Given the description of an element on the screen output the (x, y) to click on. 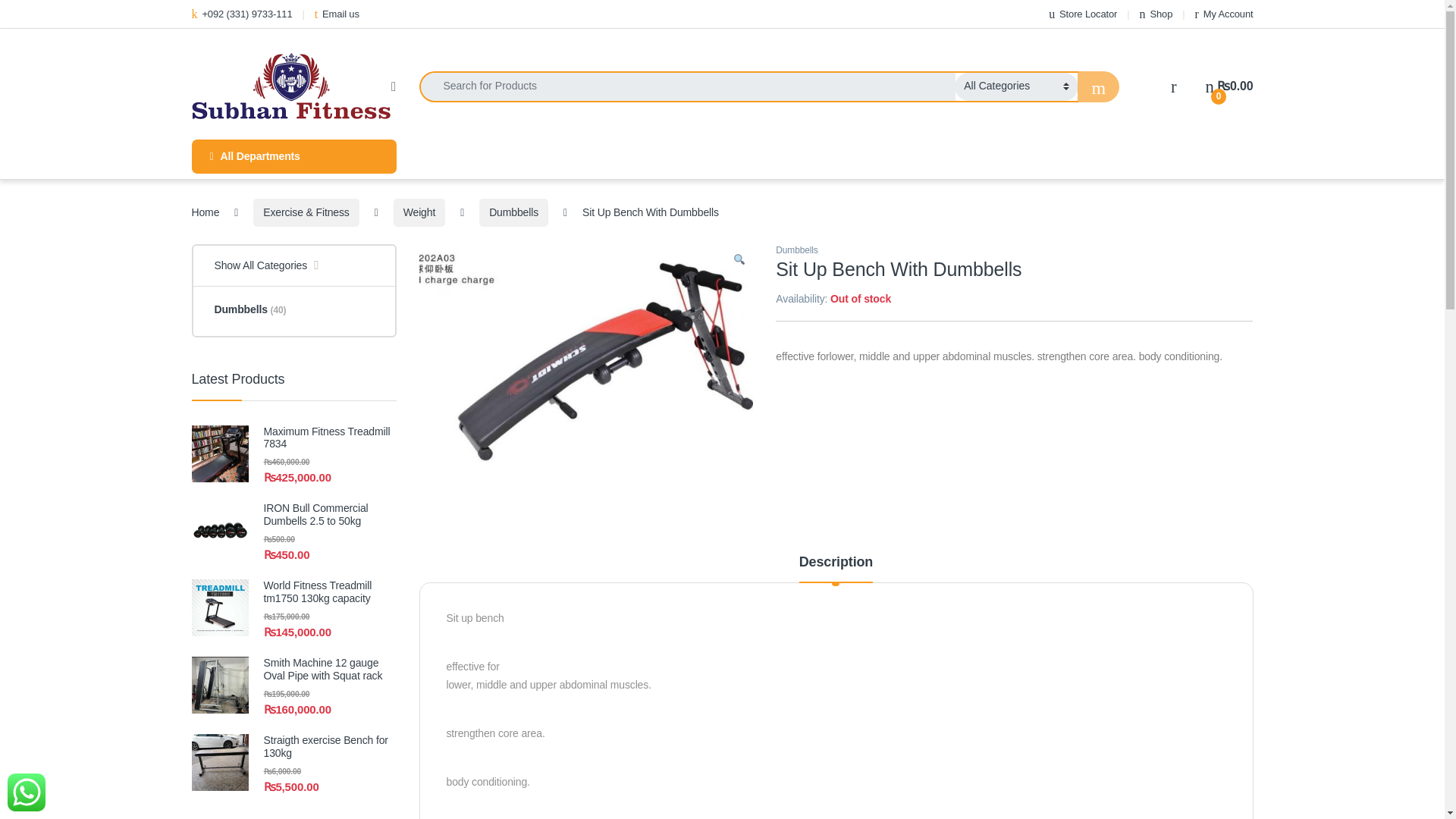
Shop (1156, 13)
Store Locator (1082, 13)
My Account (1224, 13)
Email us (336, 13)
My Account (1224, 13)
All Departments (293, 156)
Shop (1156, 13)
Email us (336, 13)
Store Locator (1082, 13)
